Given the description of an element on the screen output the (x, y) to click on. 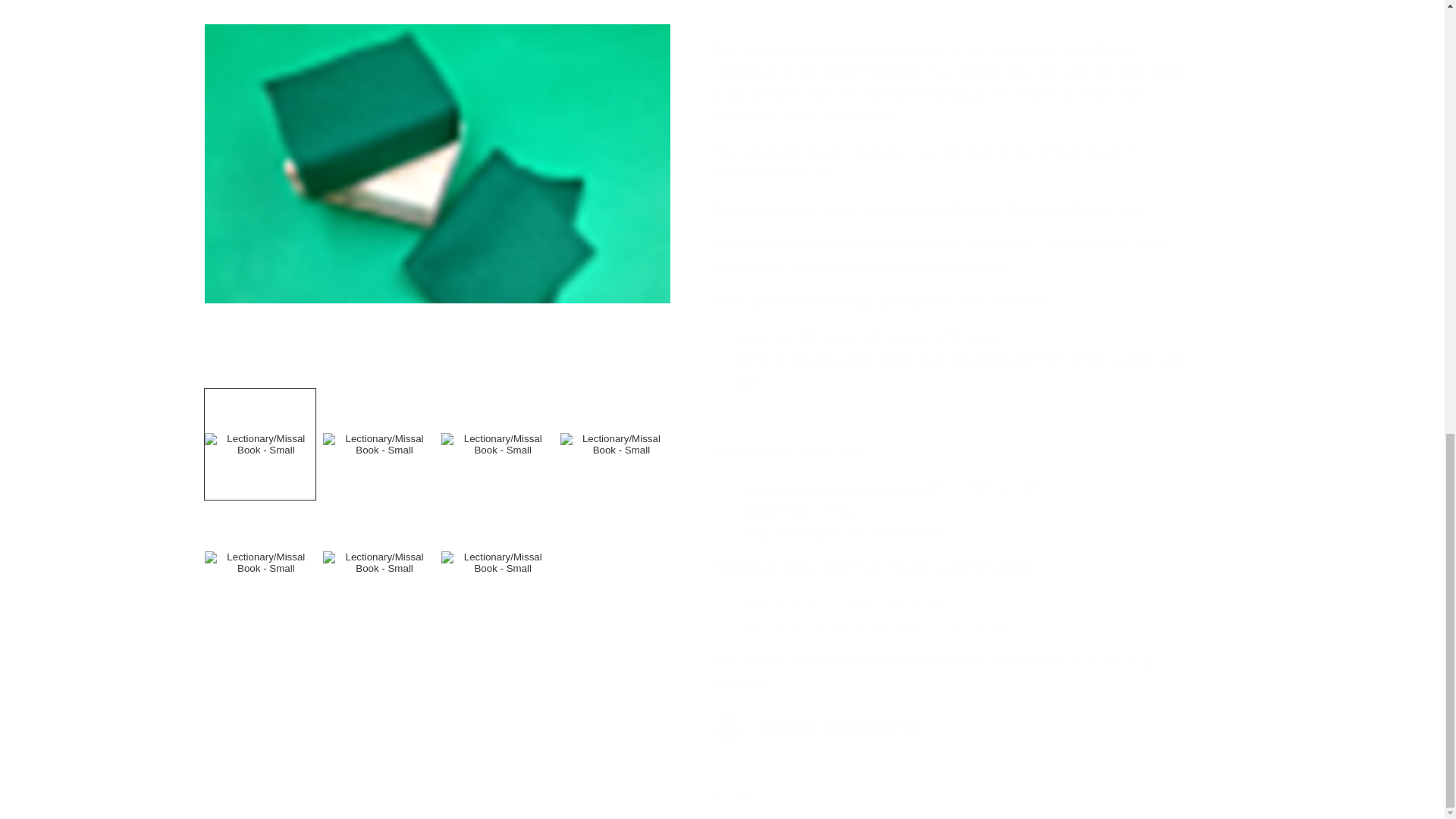
Atrium Woodworks Collection (935, 659)
Altar Book Stand (793, 520)
Atrium Woodworks Collection (820, 731)
FolkArt Multi Surface Acrylic Paint Set of 16 (844, 590)
